Given the description of an element on the screen output the (x, y) to click on. 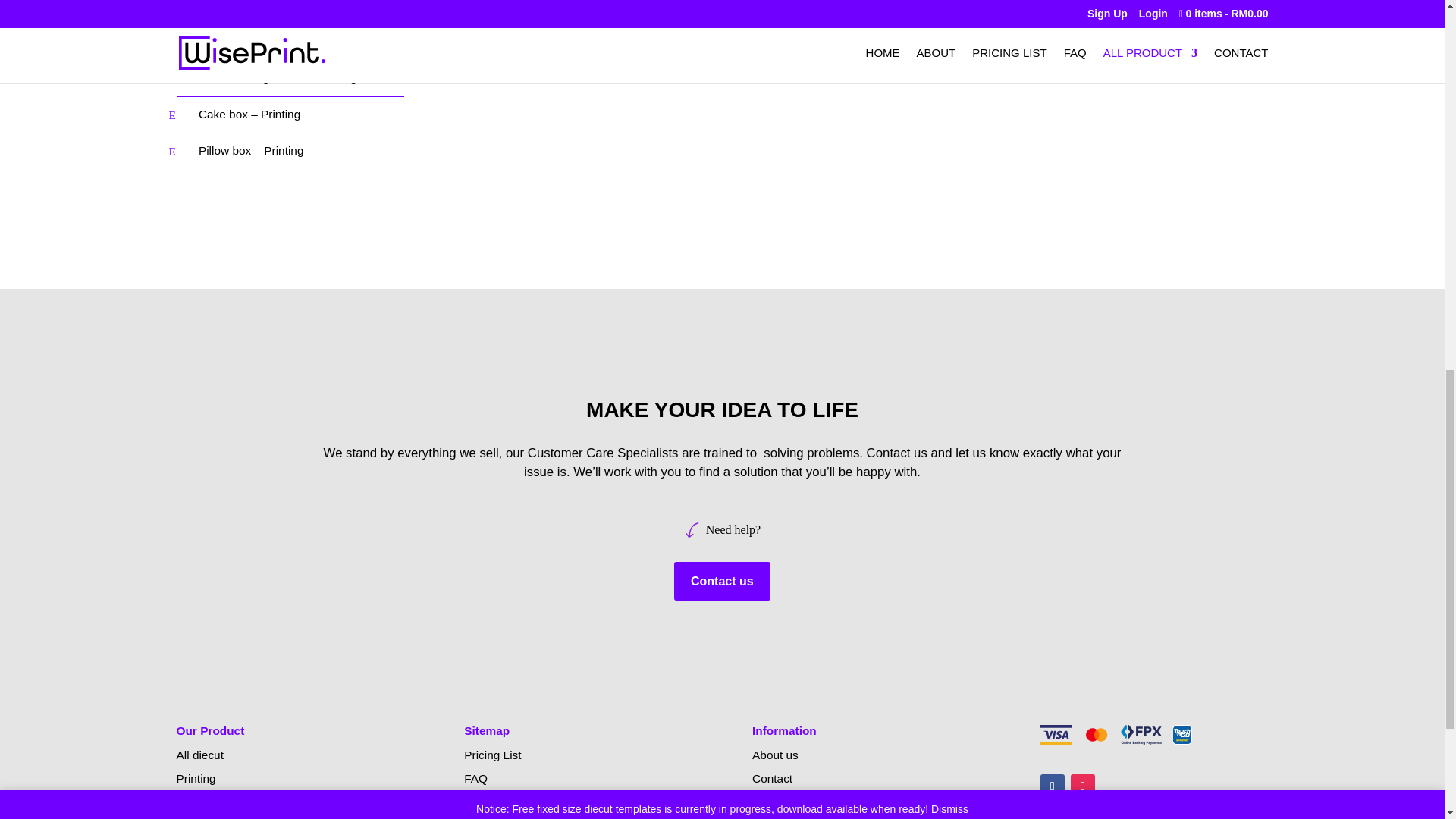
payment-gateway (1116, 734)
Follow on Facebook (1052, 785)
Follow on Instagram (1082, 785)
